Given the description of an element on the screen output the (x, y) to click on. 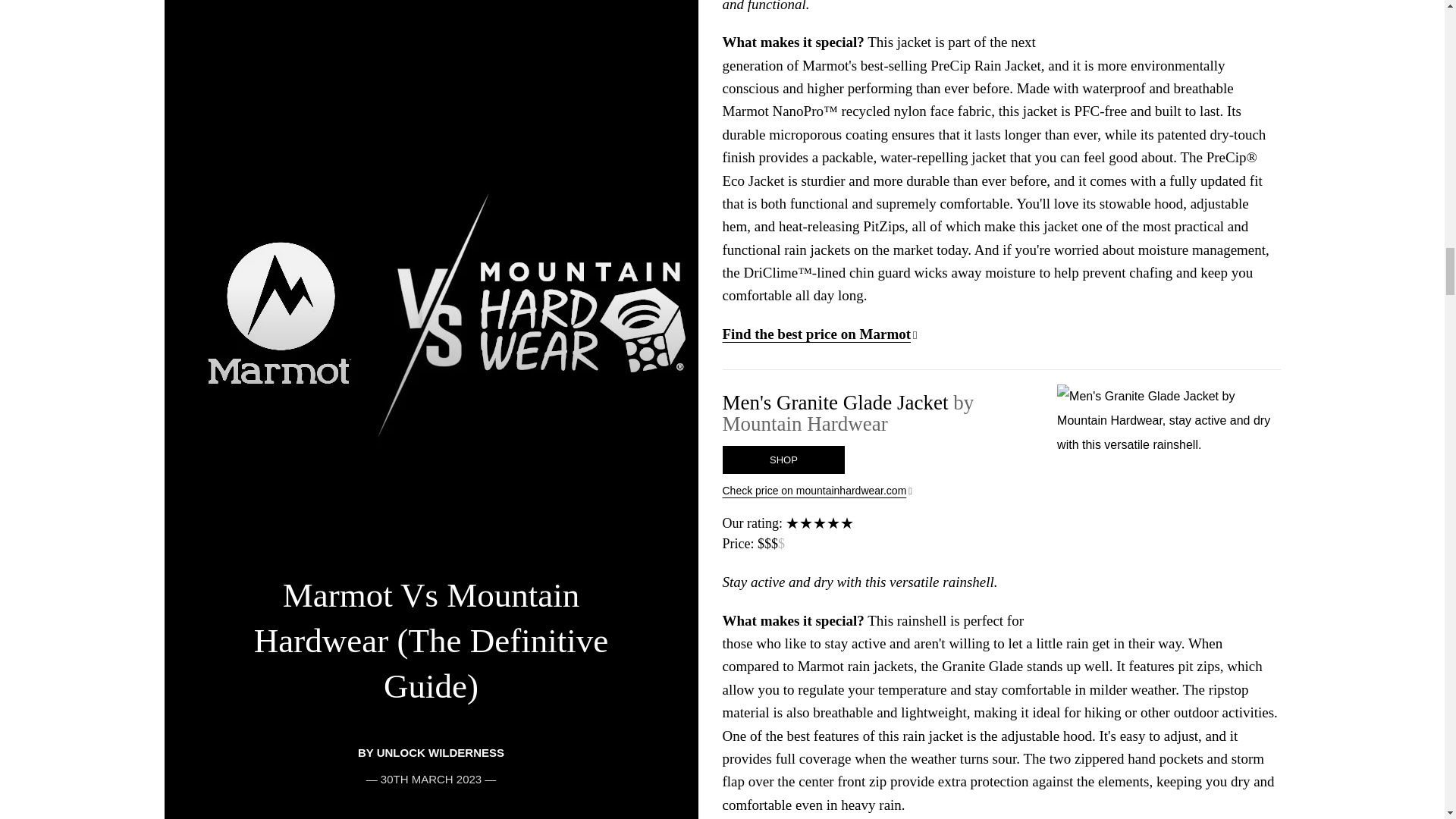
Check price on mountainhardwear.com (1000, 490)
Find the best price on Marmot (819, 333)
SHOP (783, 459)
